Given the description of an element on the screen output the (x, y) to click on. 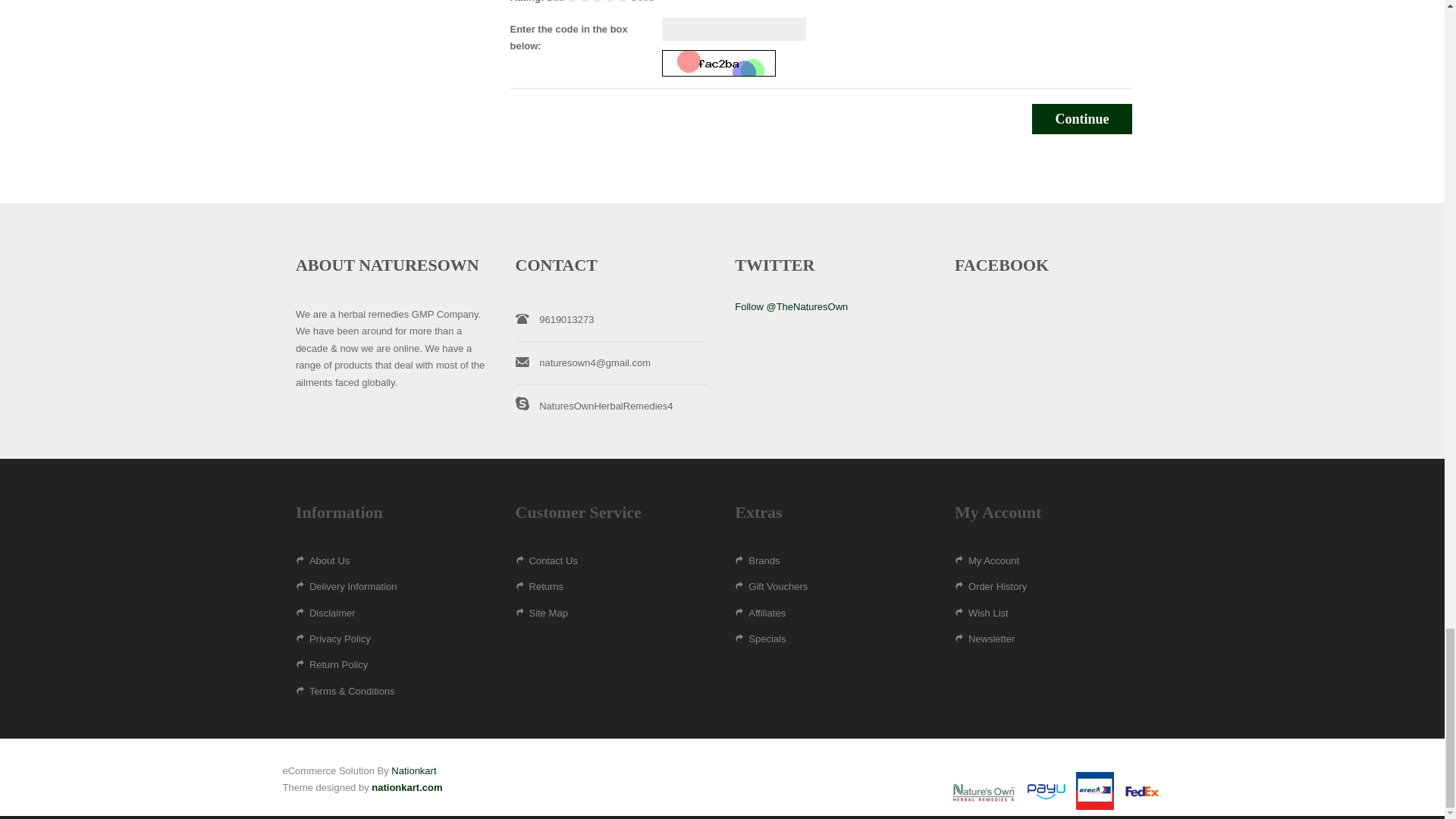
nationkart (406, 787)
nationkart (413, 770)
